Given the description of an element on the screen output the (x, y) to click on. 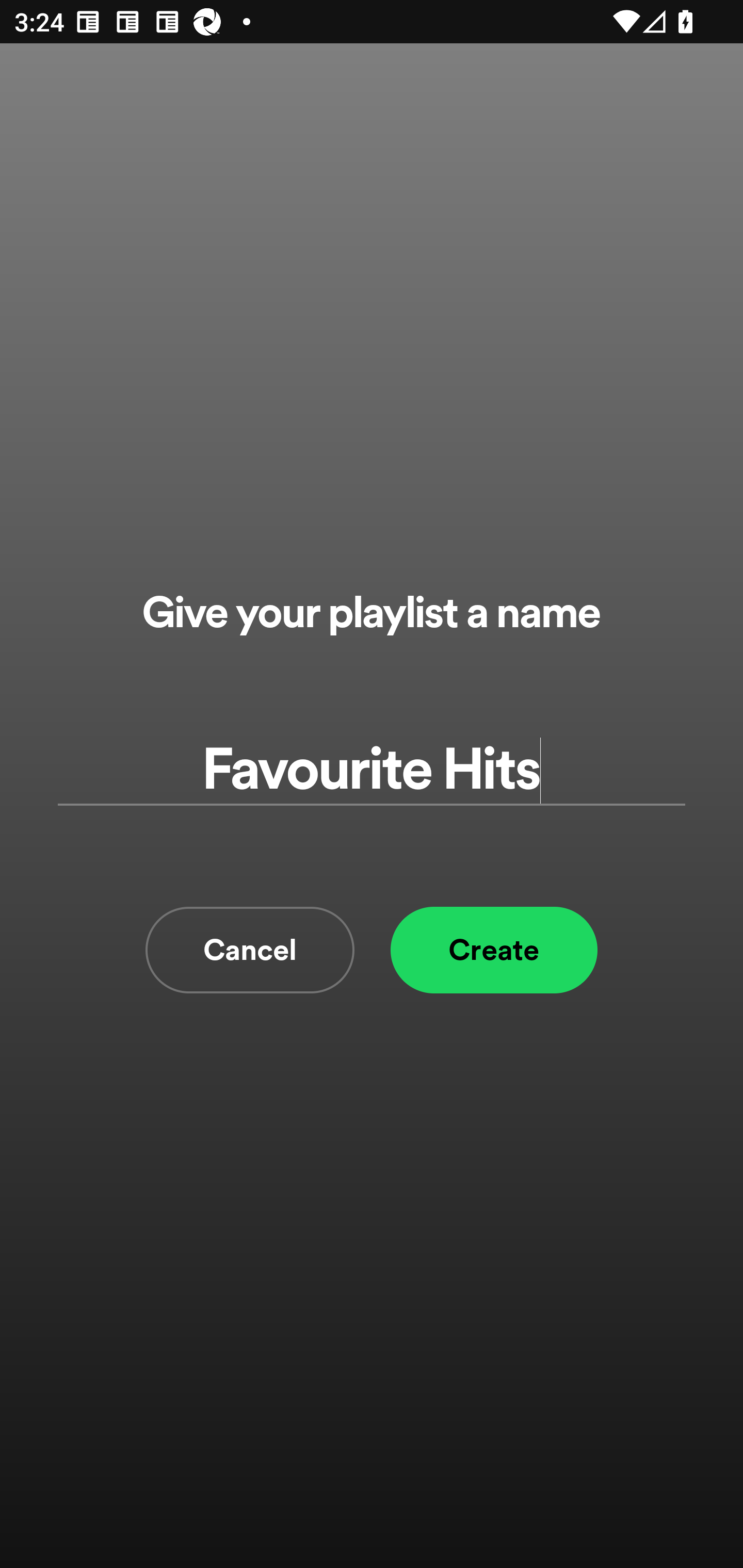
Favourite Hits Add a playlist name (371, 769)
Cancel (249, 950)
Create (493, 950)
